Given the description of an element on the screen output the (x, y) to click on. 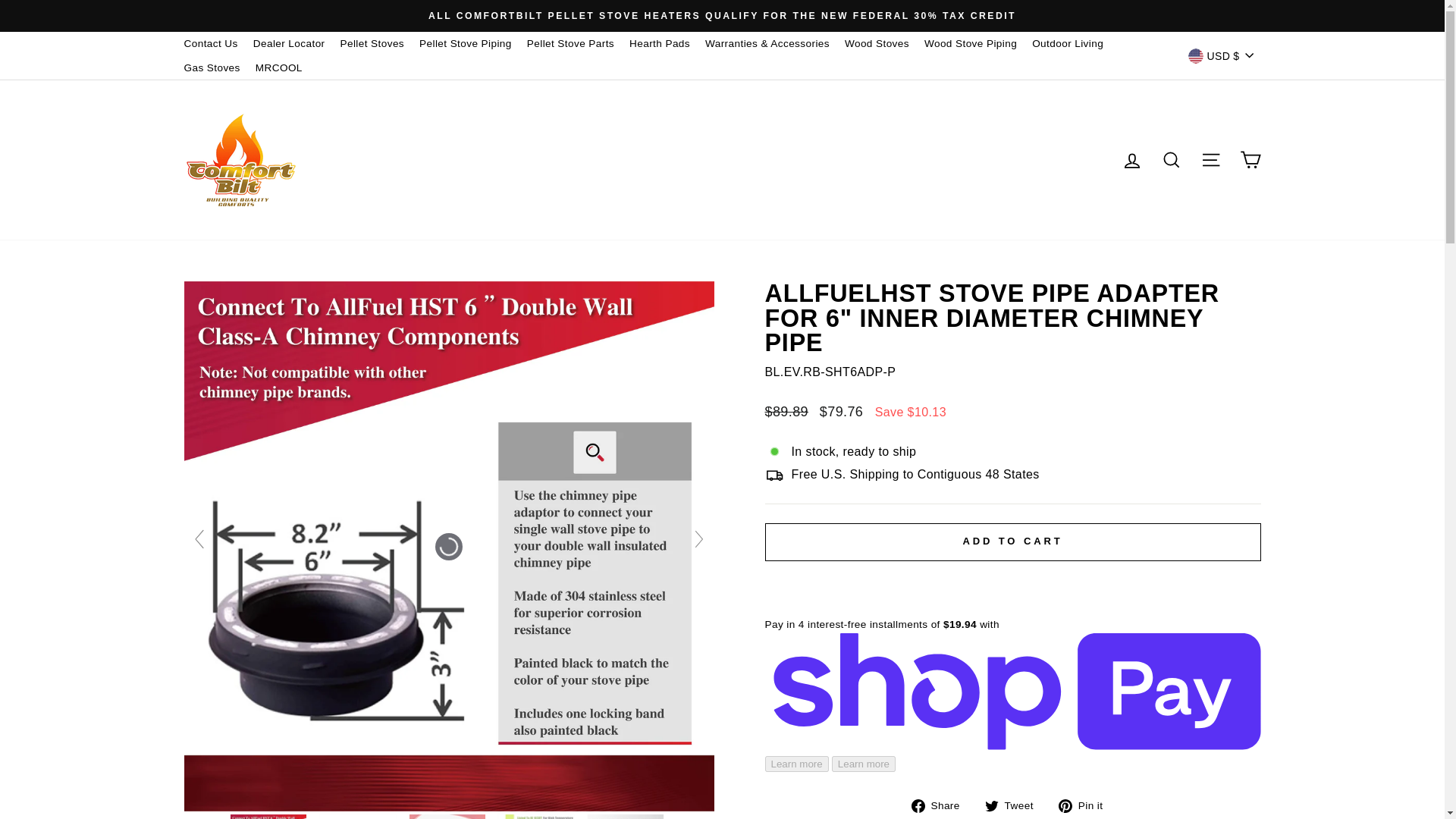
Pin on Pinterest (1085, 804)
Share on Facebook (941, 804)
Tweet on Twitter (1015, 804)
